Given the description of an element on the screen output the (x, y) to click on. 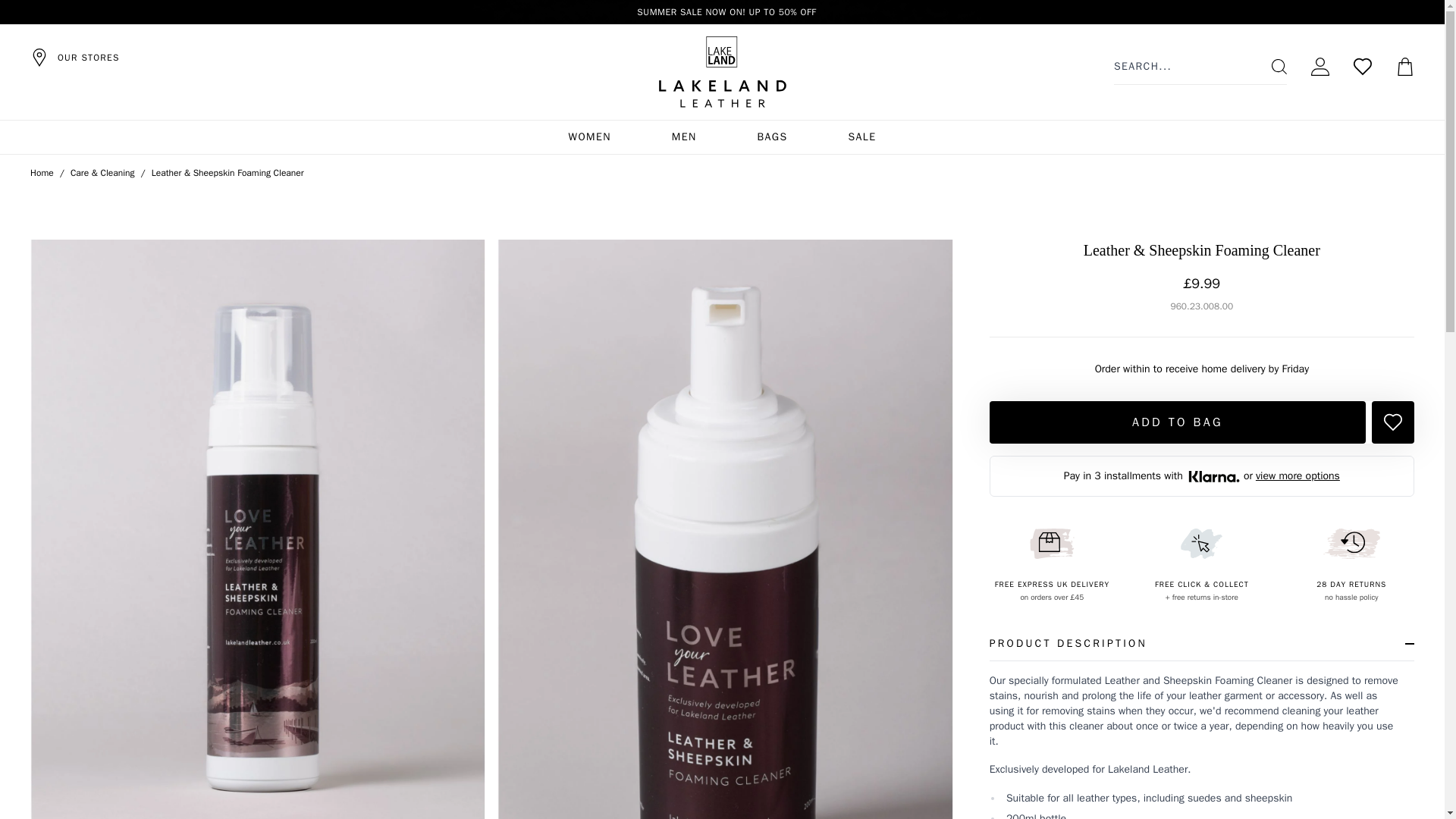
Bag Icon (1404, 66)
WOMEN (590, 136)
Bag Icon (1404, 66)
OUR STORES (74, 57)
